Given the description of an element on the screen output the (x, y) to click on. 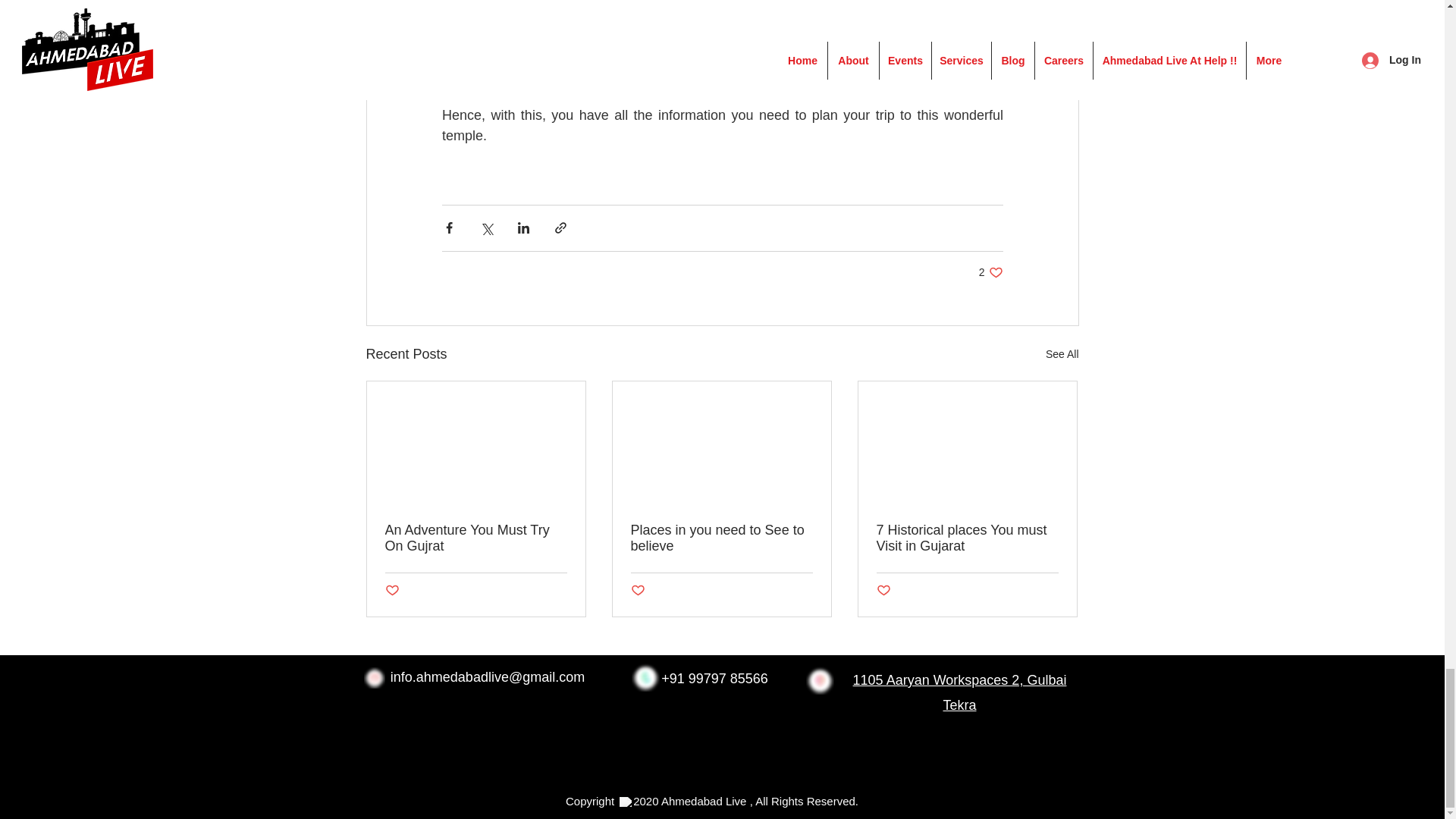
Post not marked as liked (391, 590)
Call Now (645, 677)
See All (1061, 354)
Places in you need to See to believe  (721, 538)
Email (373, 677)
location (990, 272)
Post not marked as liked (819, 680)
Post not marked as liked (637, 590)
7 Historical places You must Visit in Gujarat (883, 590)
